Given the description of an element on the screen output the (x, y) to click on. 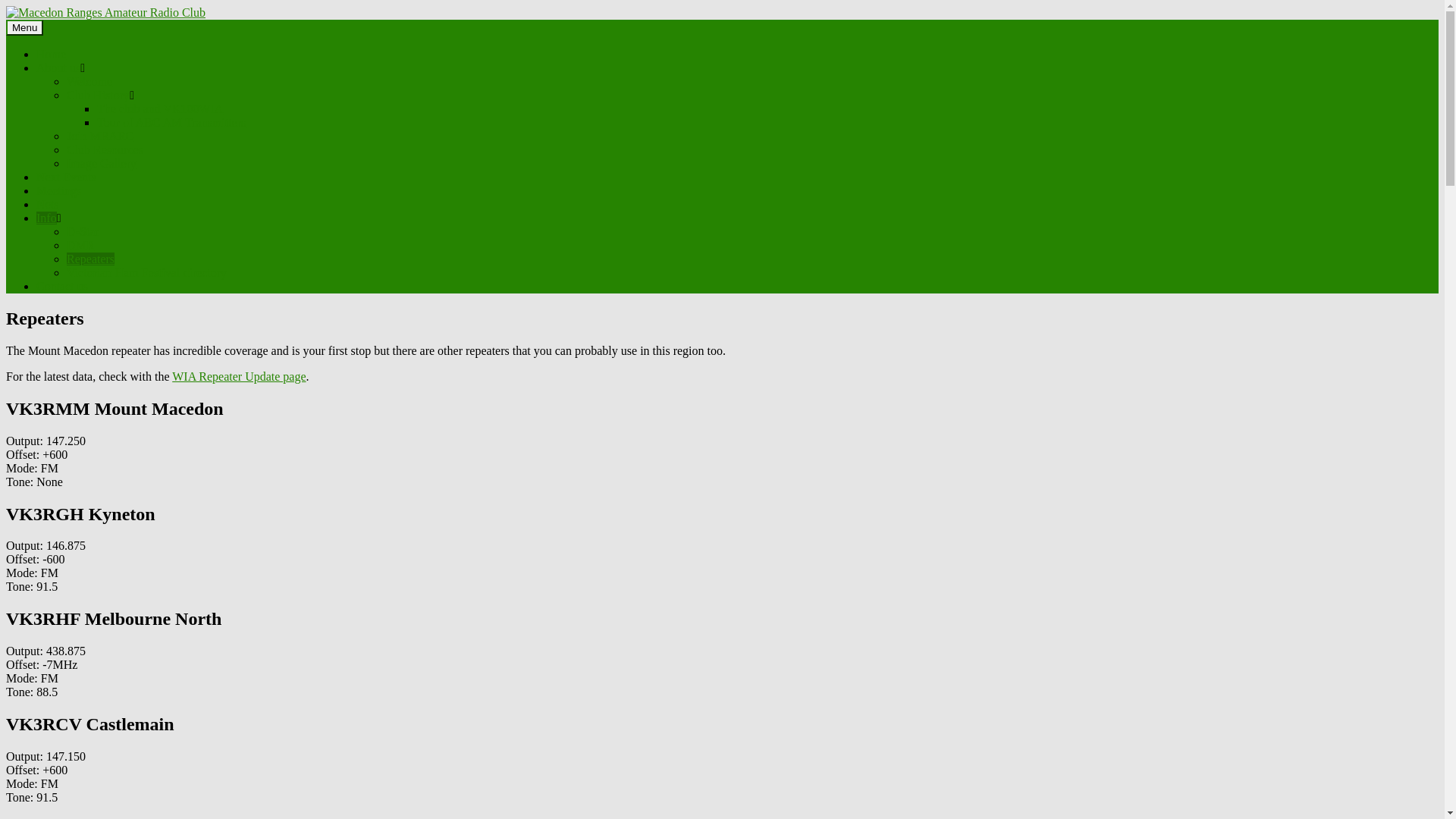
Welcome Element type: text (89, 81)
Menu Element type: text (24, 27)
Skip to content Element type: text (5, 5)
Contact us Element type: text (61, 285)
About us Element type: text (58, 67)
Tour of ABC AM Transmitters Element type: text (171, 122)
Meetings Element type: text (58, 190)
Join MRARC Element type: text (99, 135)
WIA Repeater Update page Element type: text (238, 376)
Repeaters Element type: text (90, 258)
Nets Element type: text (47, 203)
Club History Element type: text (97, 94)
Victorian Ham Festival directory Element type: text (146, 272)
The club and VK100WIA Element type: text (159, 108)
Next Events Element type: text (66, 176)
Home Element type: text (50, 53)
DMR Element type: text (80, 244)
D-Star Element type: text (82, 231)
Image Gallery Element type: text (101, 162)
Info Element type: text (46, 217)
Club Resources Element type: text (104, 149)
